Given the description of an element on the screen output the (x, y) to click on. 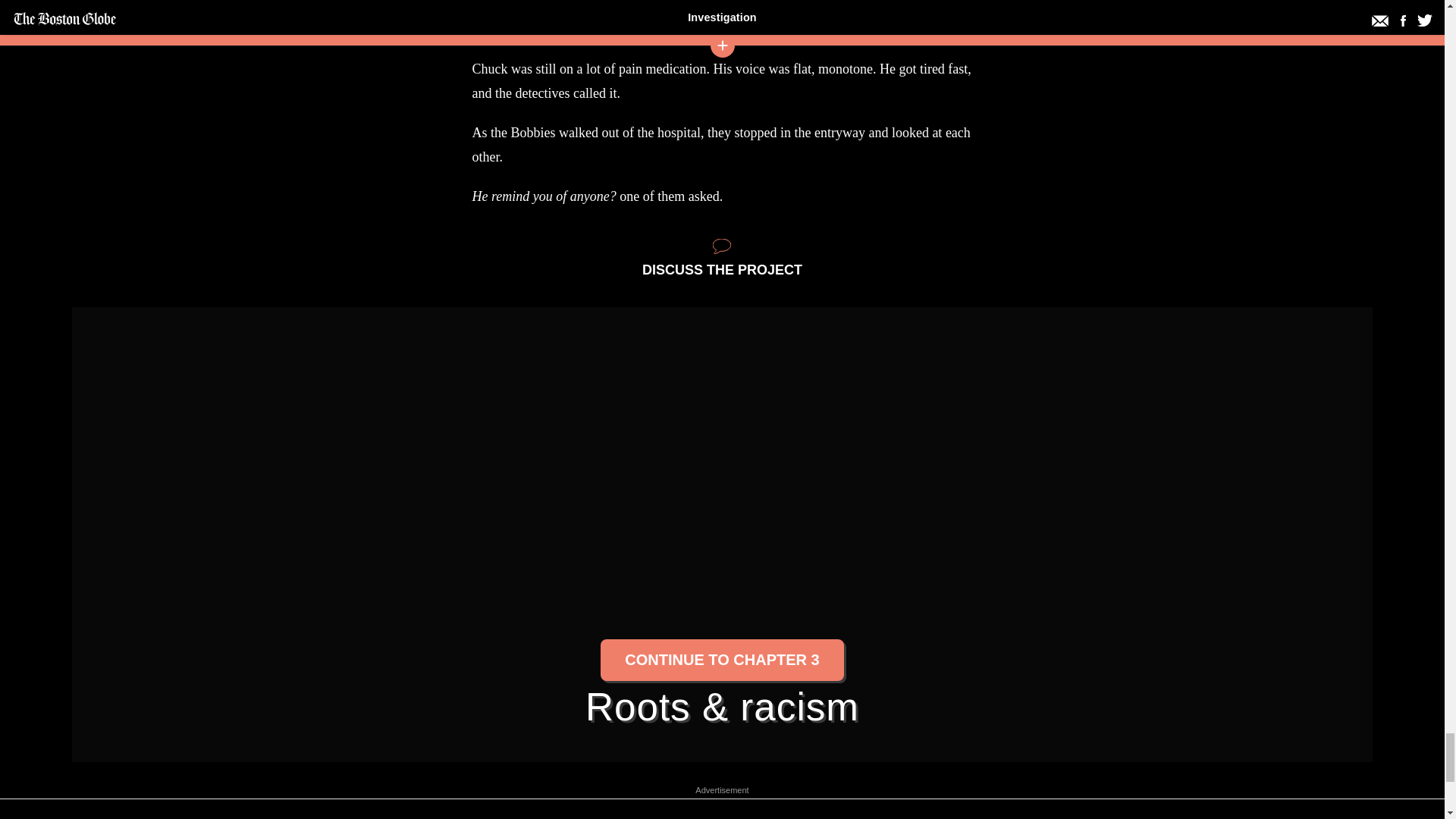
CONTINUE TO CHAPTER 3 (721, 659)
DISCUSS THE PROJECT (722, 257)
CONTINUE TO CHAPTER 3 (721, 660)
